Given the description of an element on the screen output the (x, y) to click on. 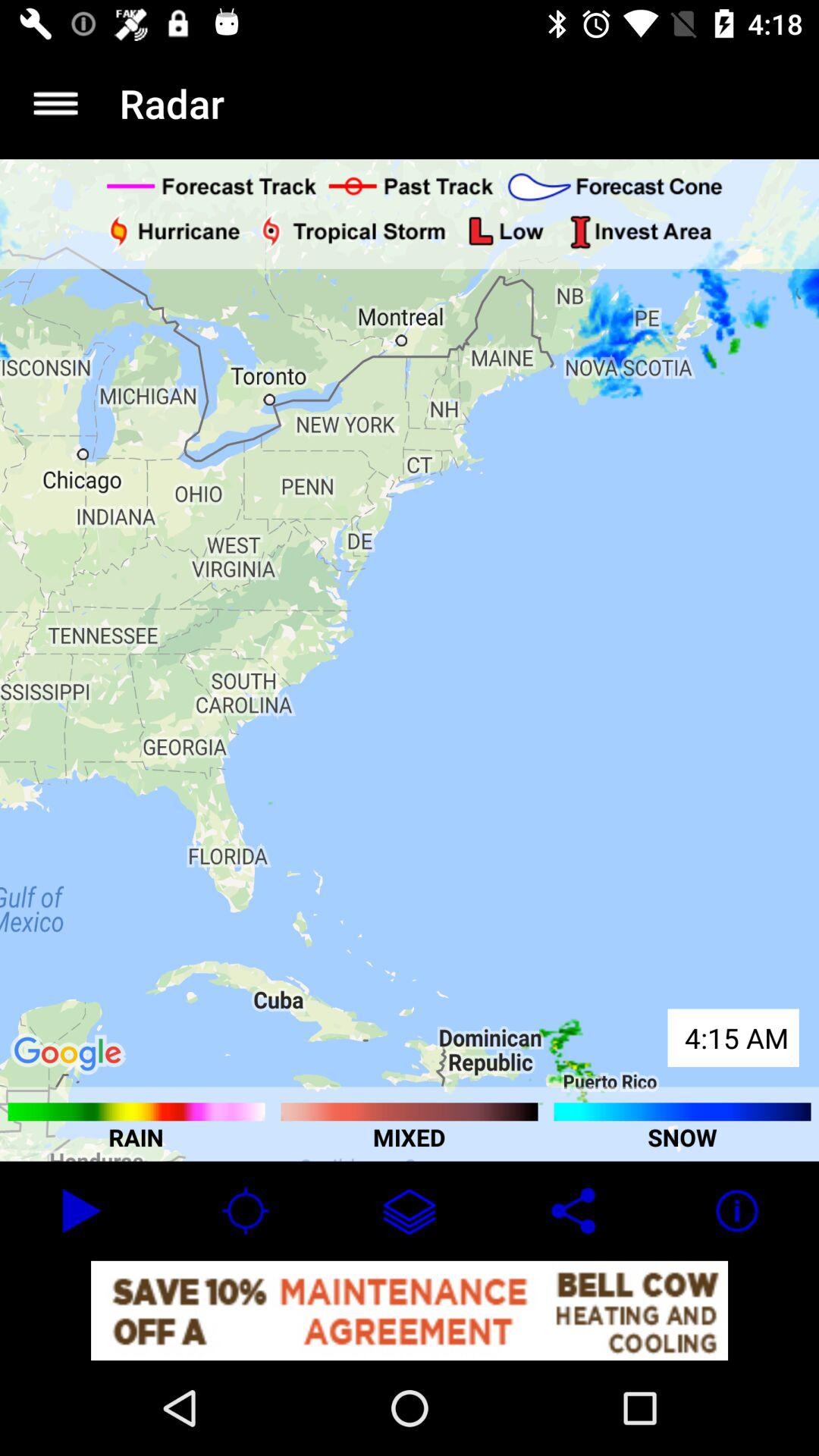
open item to the left of radar icon (55, 103)
